Given the description of an element on the screen output the (x, y) to click on. 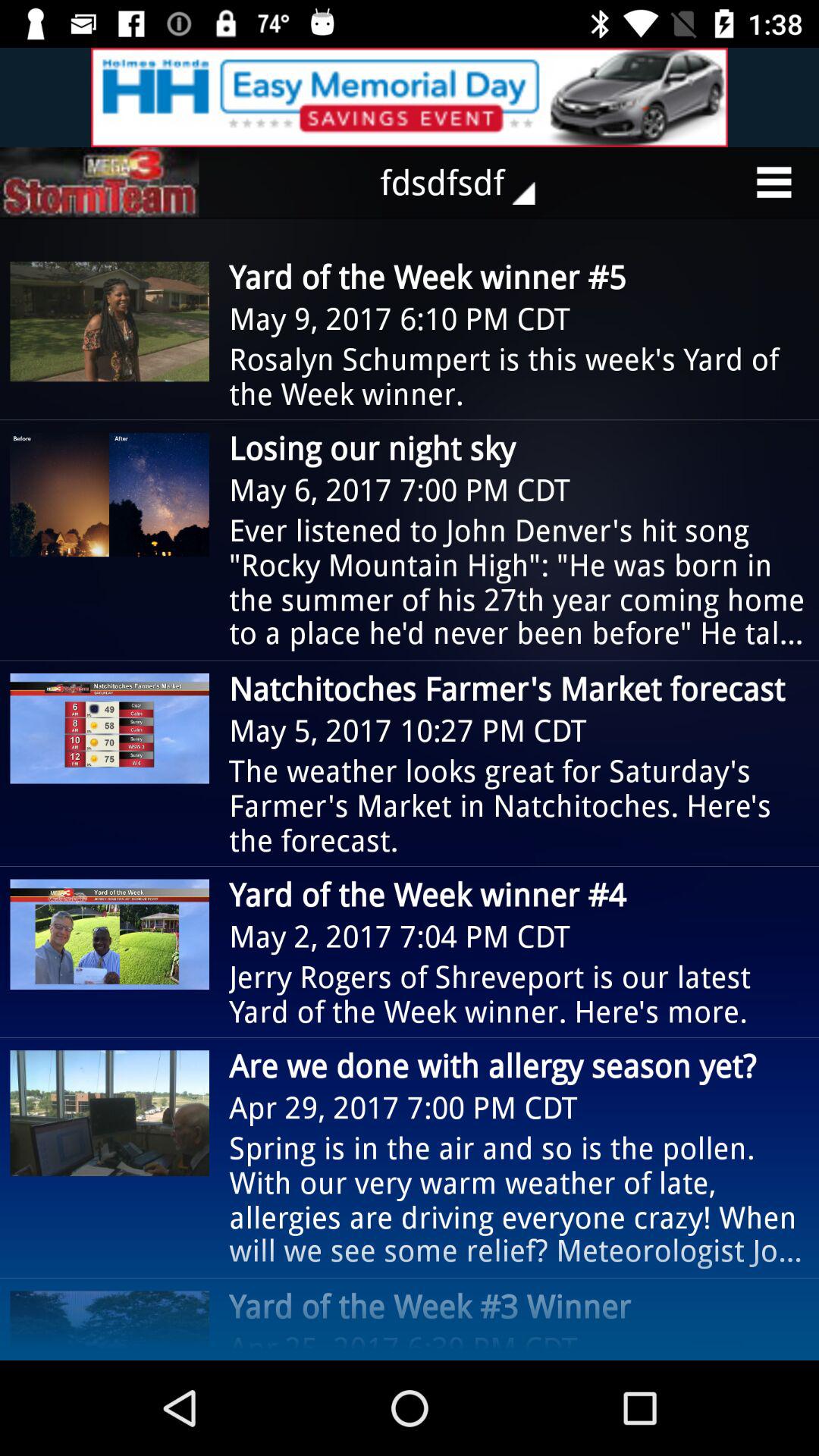
advertisement (409, 97)
